Given the description of an element on the screen output the (x, y) to click on. 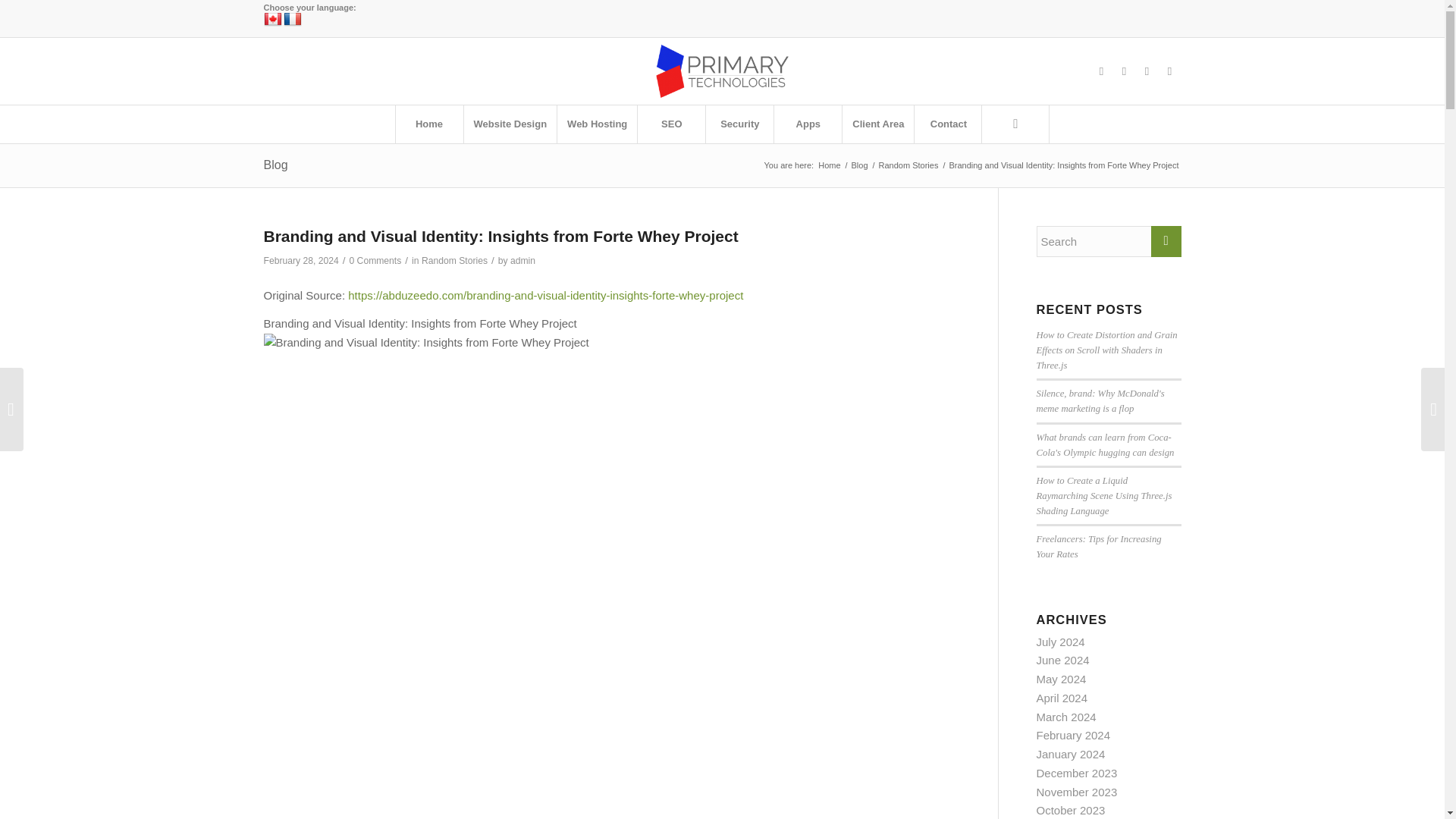
Client Area (877, 124)
Instagram (1146, 70)
Blog (859, 165)
Website Design (510, 124)
Home (428, 124)
Contact (947, 124)
Website Design in Oakville, Burlington, Milton, Port Credit (829, 165)
Posts by admin (523, 260)
Security (738, 124)
SEO (670, 124)
Twitter (1124, 70)
Apps (807, 124)
Facebook (1101, 70)
English (272, 19)
Web Hosting (596, 124)
